Given the description of an element on the screen output the (x, y) to click on. 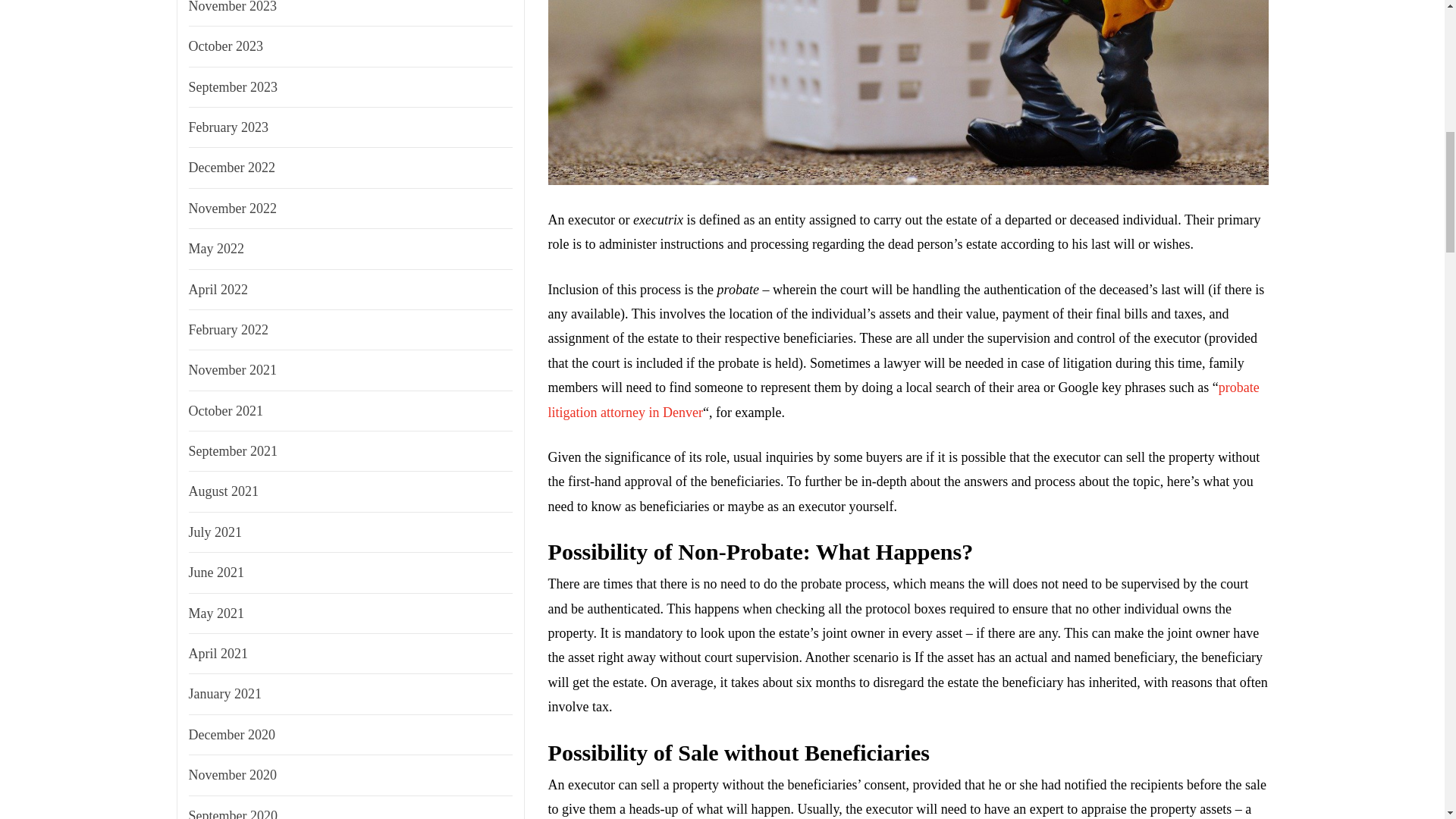
probate litigation attorney in Denver (903, 399)
